Given the description of an element on the screen output the (x, y) to click on. 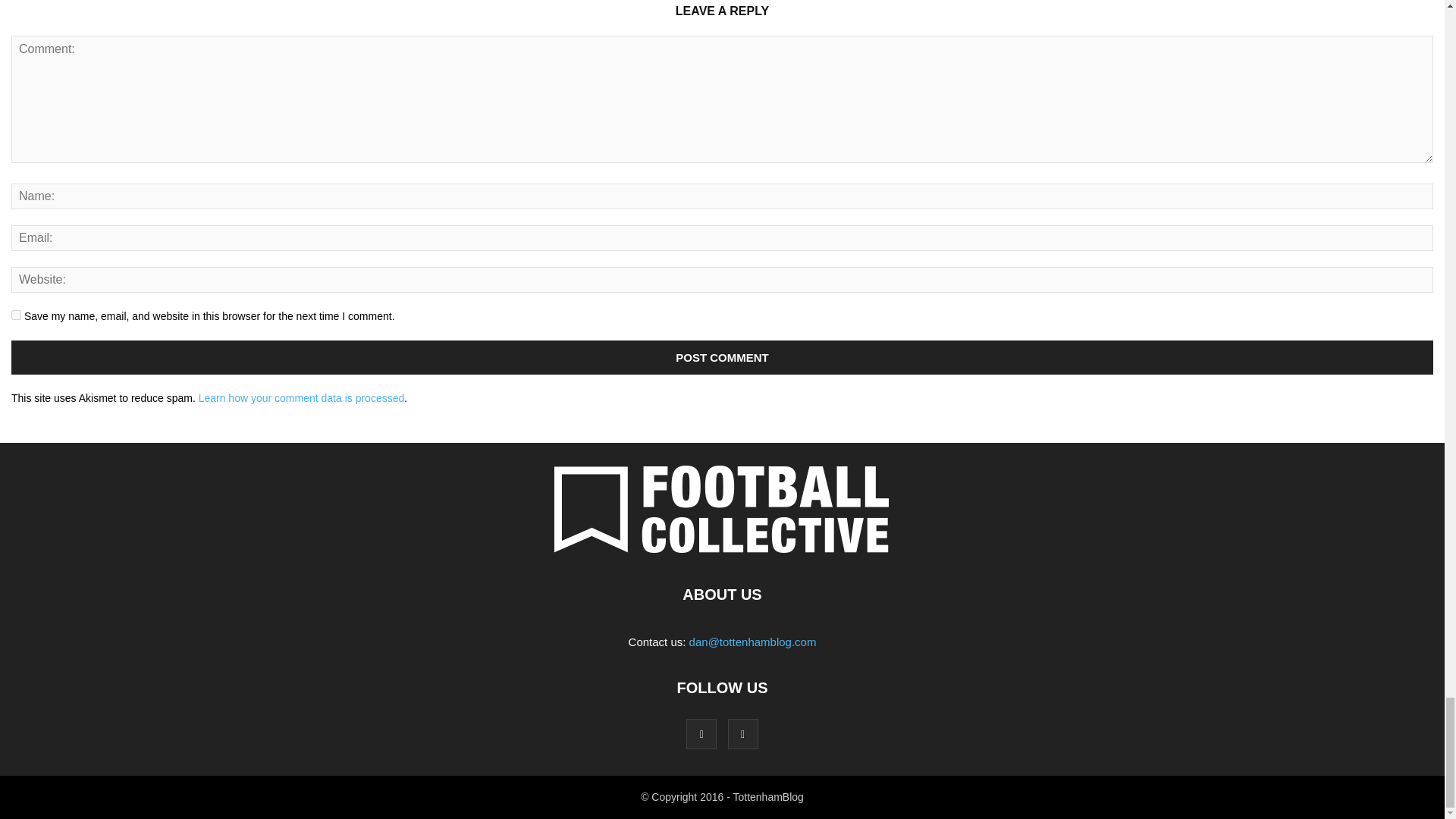
Post Comment (721, 357)
Twitter (743, 733)
Facebook (700, 733)
yes (16, 315)
